Given the description of an element on the screen output the (x, y) to click on. 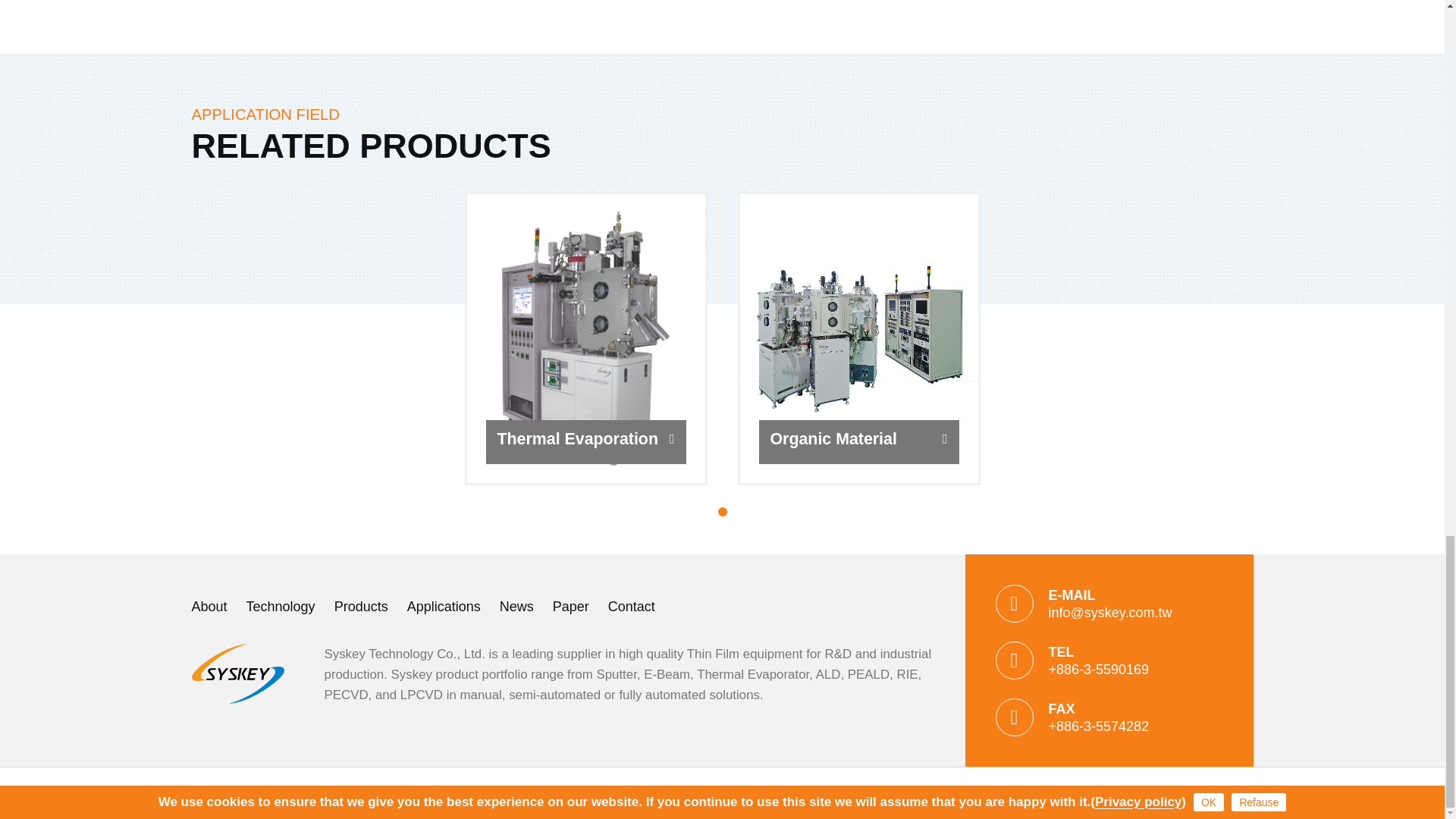
Technology (280, 606)
Paper (571, 606)
Contact (631, 606)
Privacy (523, 792)
About (208, 606)
Products (361, 606)
Applications (443, 606)
News (516, 606)
1 (721, 511)
Syskey Technology Co., Ltd. (242, 674)
